Given the description of an element on the screen output the (x, y) to click on. 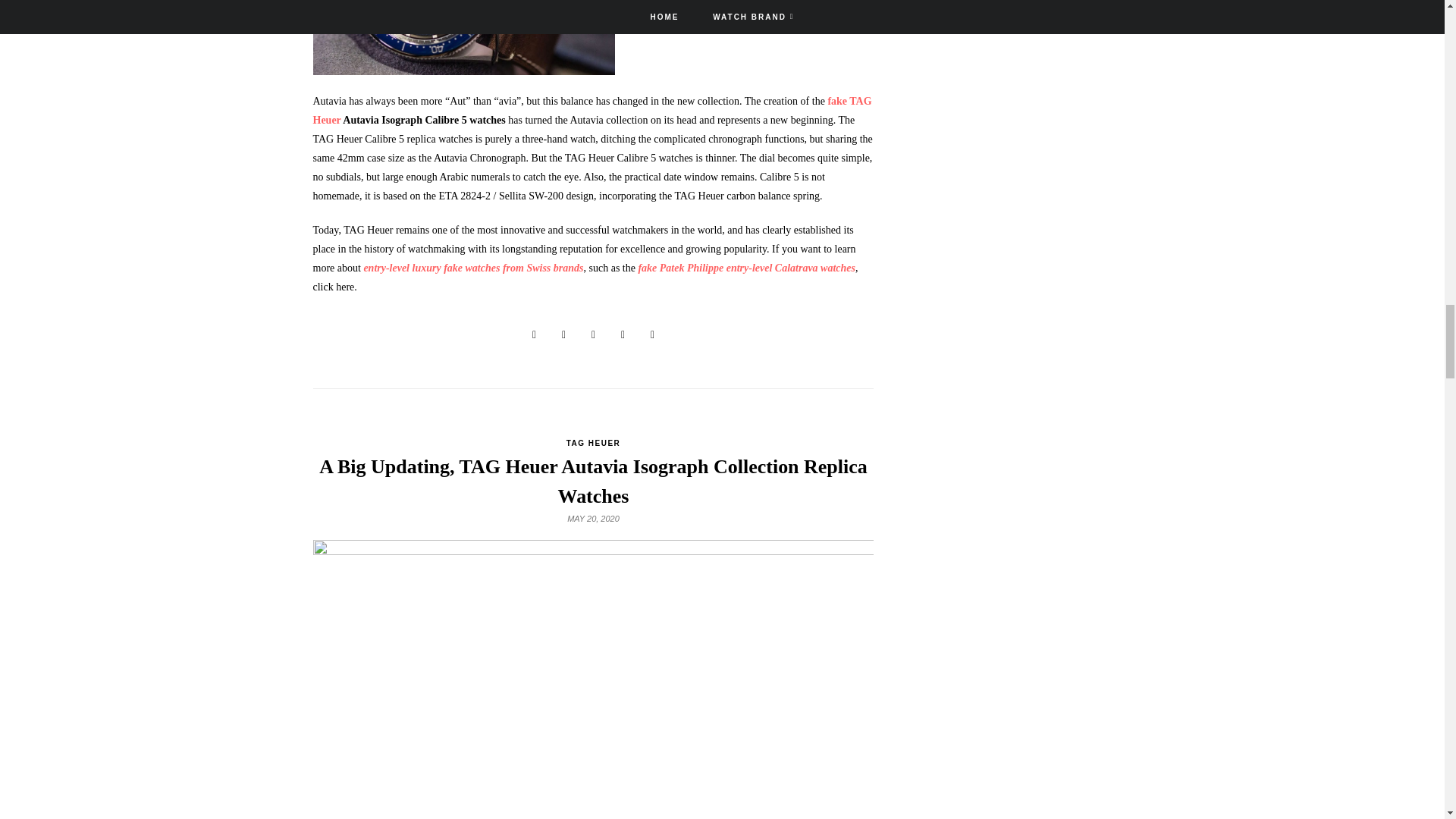
fake Patek Philippe entry-level Calatrava watches (746, 267)
TAG HEUER (593, 442)
fake TAG Heuer (591, 110)
entry-level luxury fake watches from Swiss brands (472, 267)
